Given the description of an element on the screen output the (x, y) to click on. 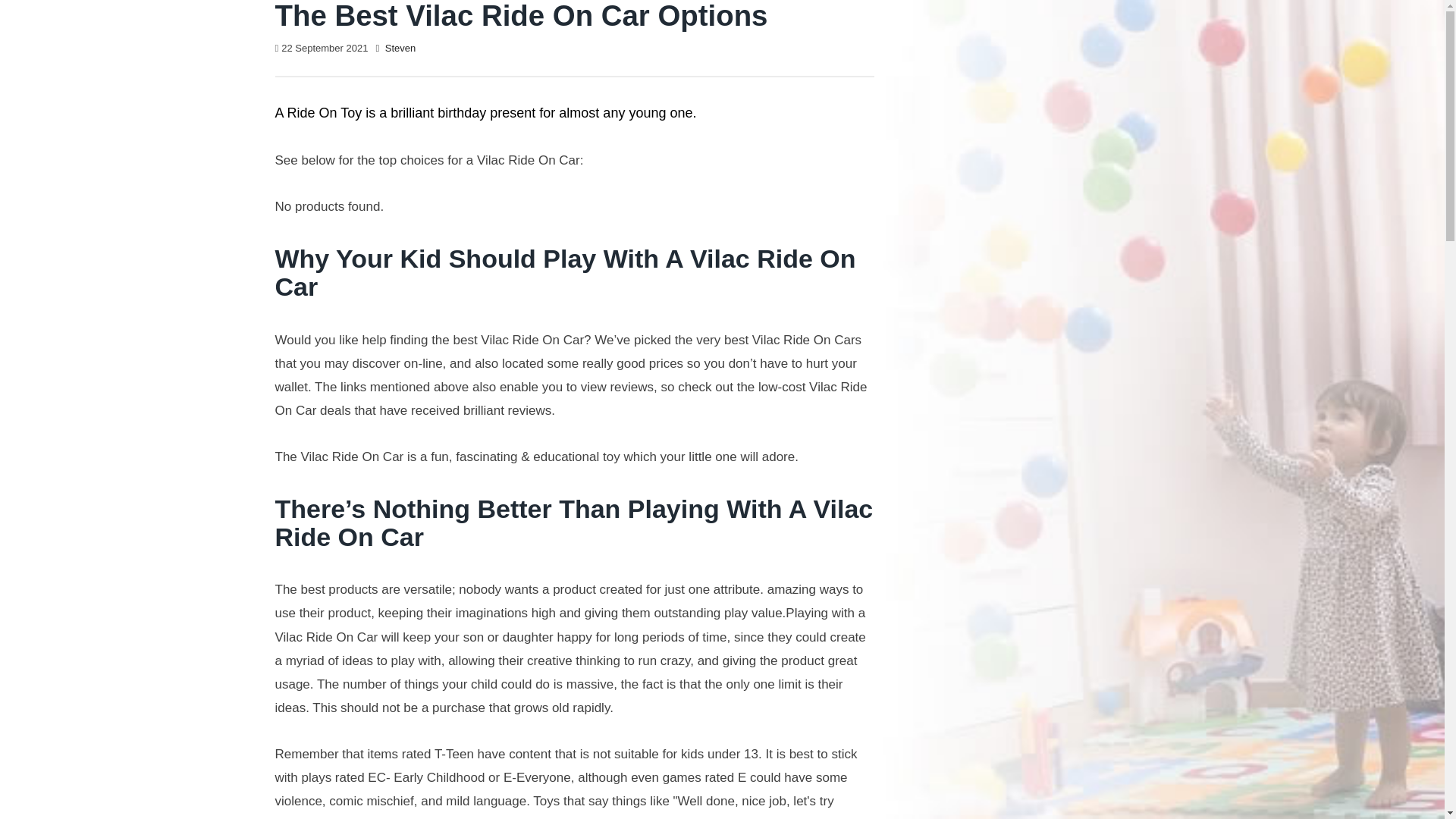
Steven (399, 48)
22 September 2021 (324, 48)
